Given the description of an element on the screen output the (x, y) to click on. 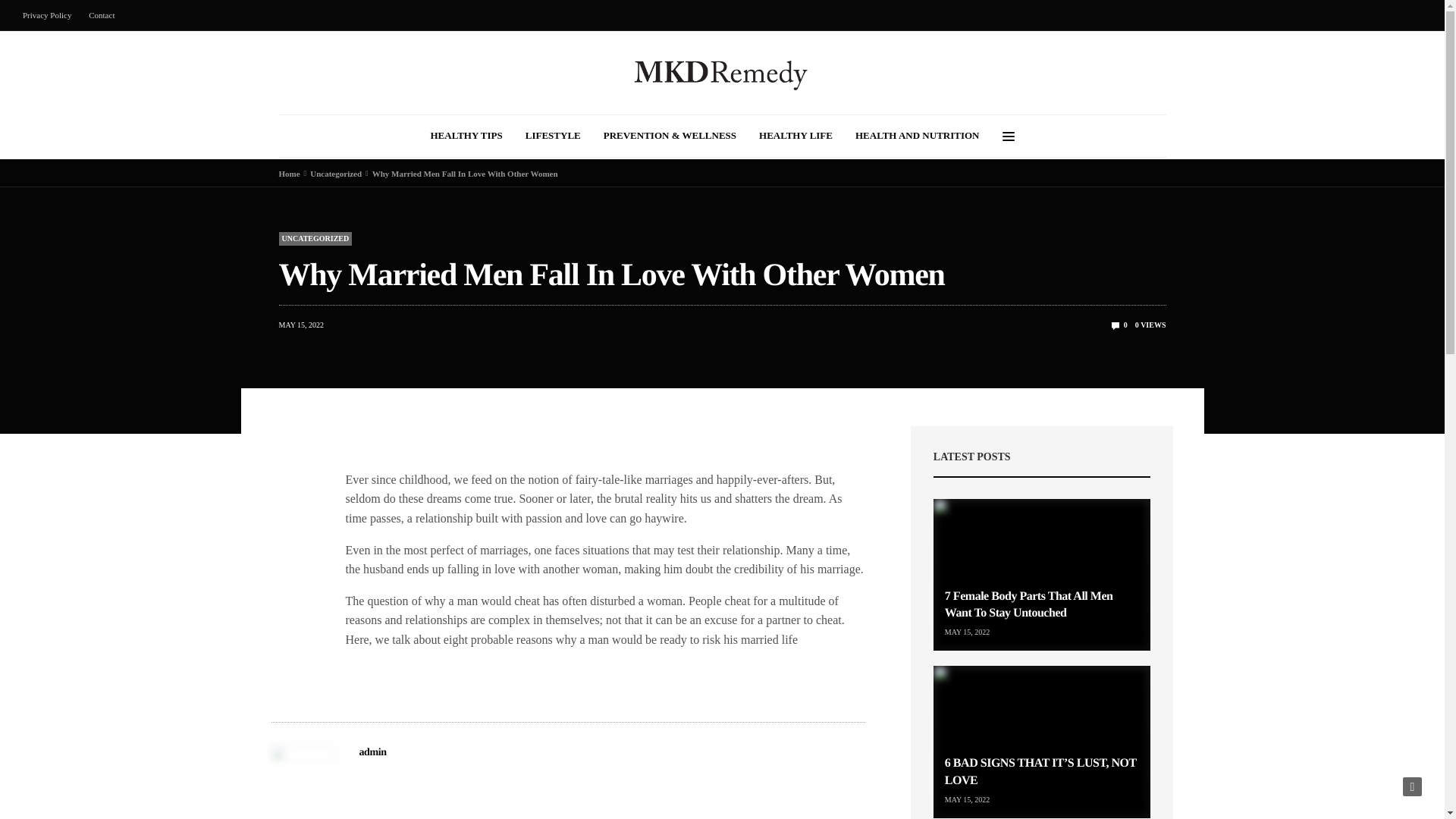
LIFESTYLE (552, 135)
7 Female Body Parts That All Men Want To Stay Untouched (1042, 574)
7 Female Body Parts That All Men Want To Stay Untouched (1028, 604)
Why Married Men Fall In Love With Other Women (1119, 325)
Privacy Policy (50, 15)
HEALTHY TIPS (465, 135)
Home (289, 173)
UNCATEGORIZED (315, 238)
0 (1119, 325)
HEALTH AND NUTRITION (917, 135)
